Given the description of an element on the screen output the (x, y) to click on. 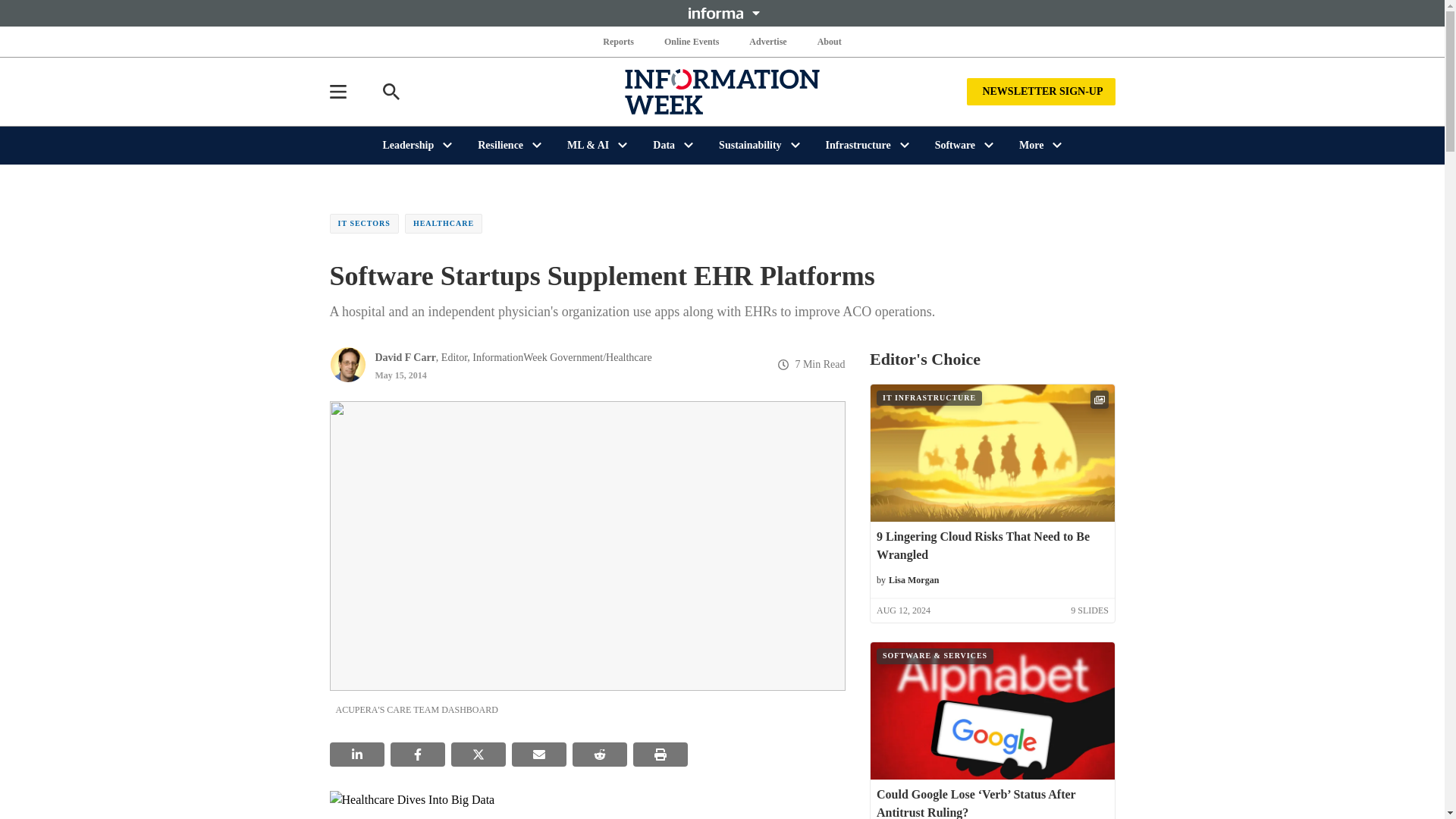
InformationWeek (722, 91)
NEWSLETTER SIGN-UP (1040, 90)
Online Events (691, 41)
Reports (618, 41)
Advertise (767, 41)
About (828, 41)
